Given the description of an element on the screen output the (x, y) to click on. 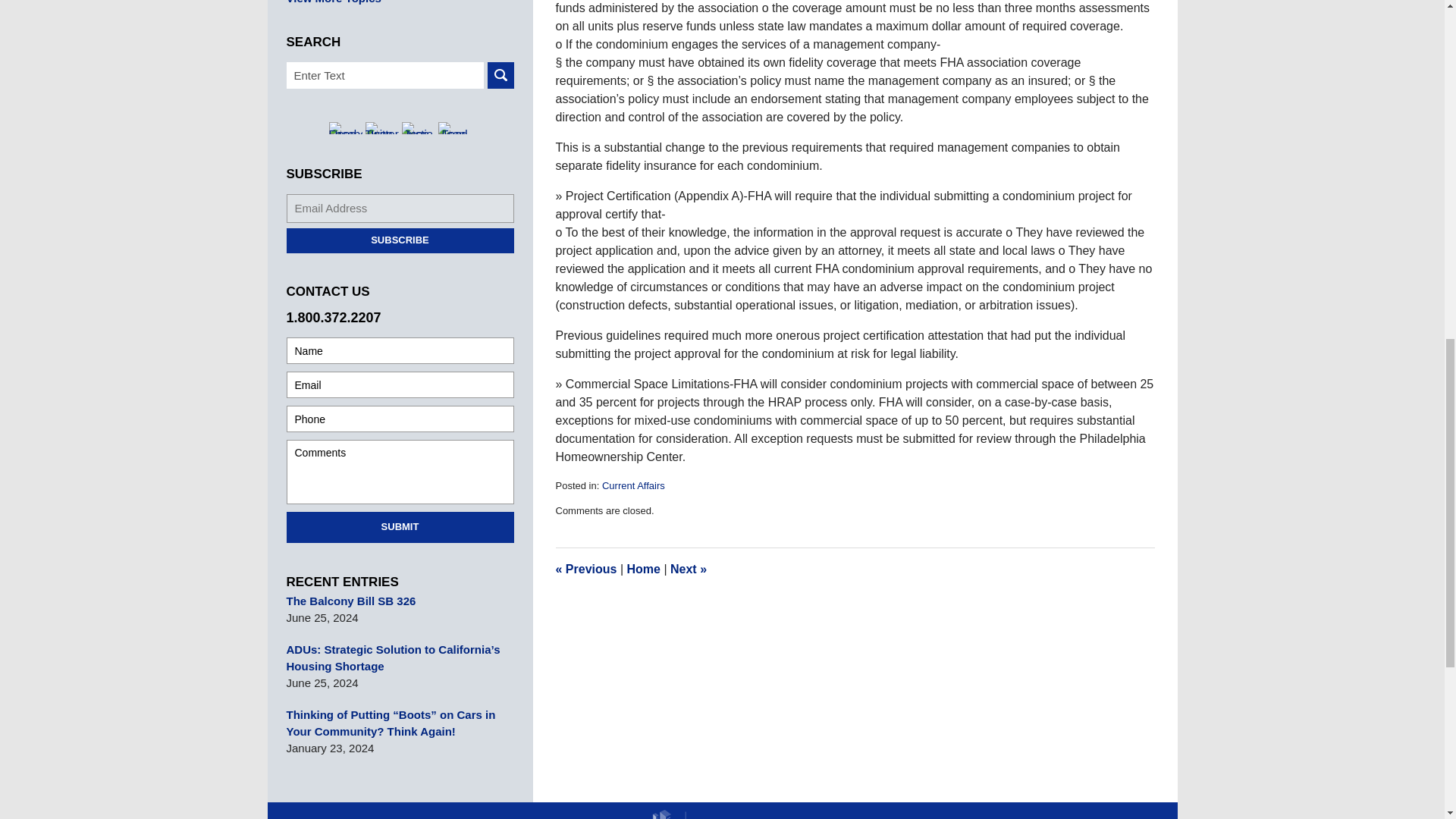
What You Need to Know About Small Claims Court (584, 568)
Current Affairs (633, 485)
What the Heck is a Default Judgment? (687, 568)
View all posts in Current Affairs (633, 485)
Home (642, 568)
